Given the description of an element on the screen output the (x, y) to click on. 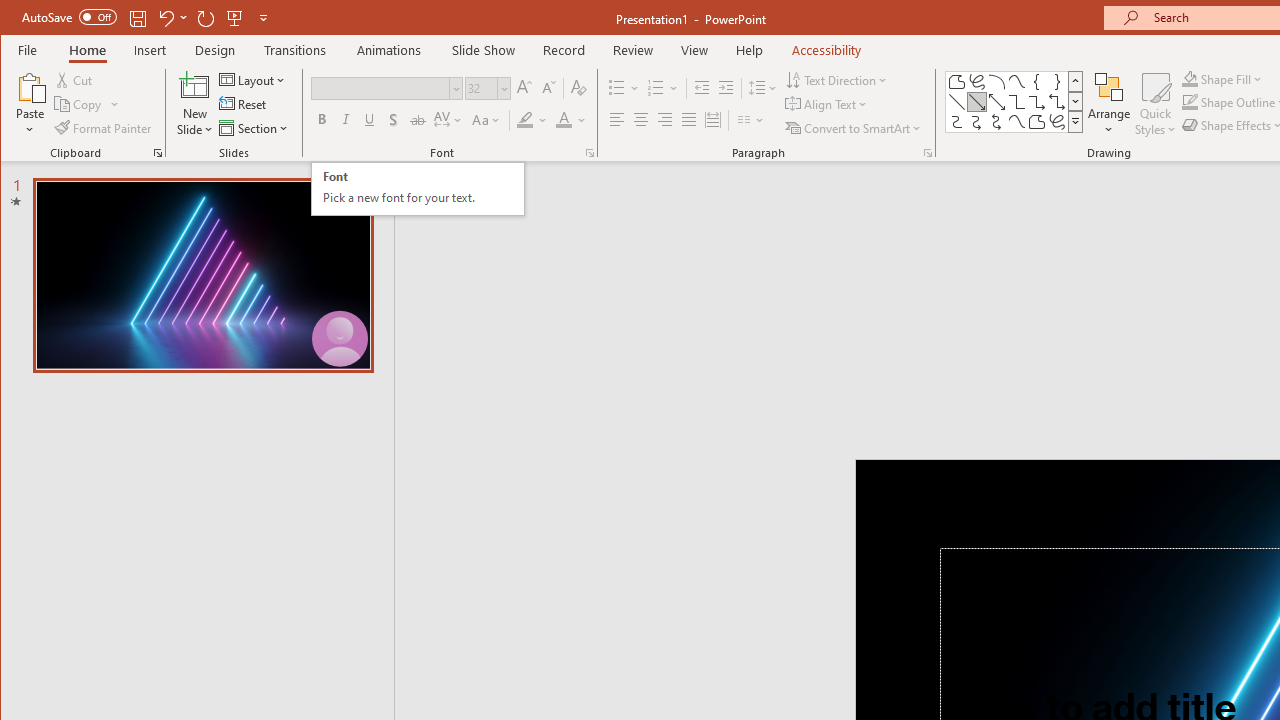
Line Arrow: Double (996, 102)
